Given the description of an element on the screen output the (x, y) to click on. 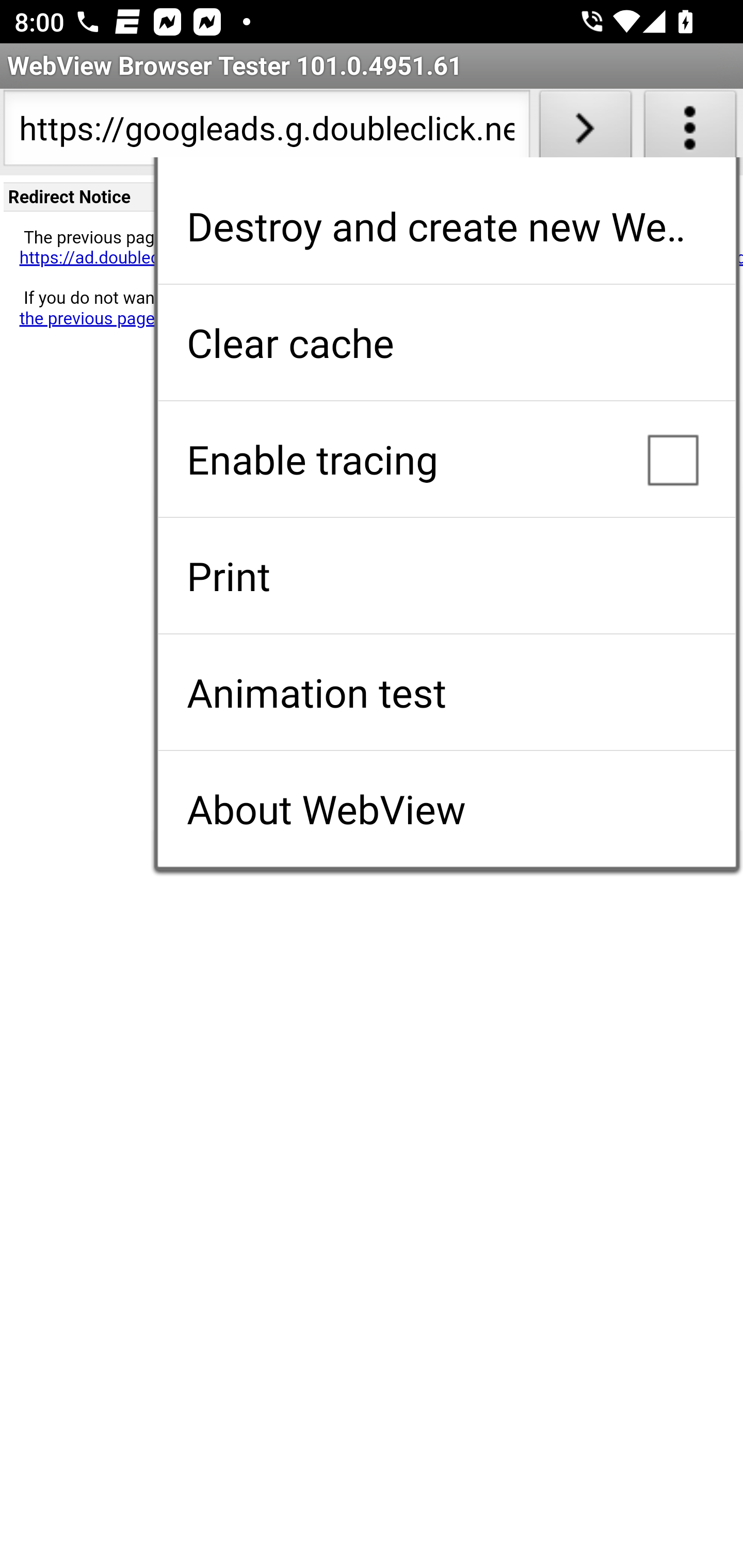
Destroy and create new WebView (446, 225)
Clear cache (446, 342)
Enable tracing (446, 459)
Print (446, 575)
Animation test (446, 692)
About WebView (446, 809)
